Given the description of an element on the screen output the (x, y) to click on. 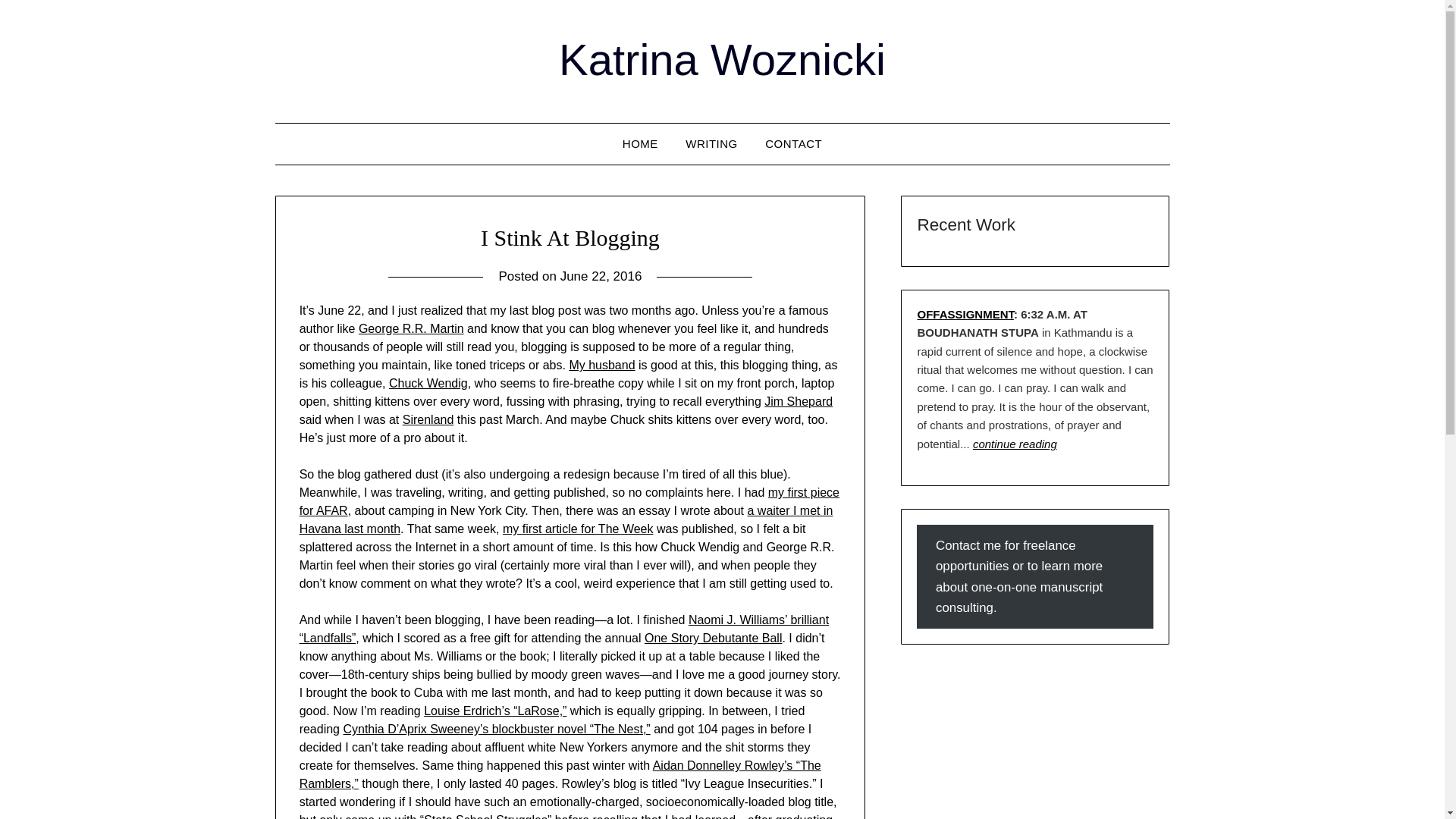
George R.R. Martin (411, 328)
My husband (601, 364)
my first article for The Week (577, 528)
Chuck Wendig (427, 382)
Sirenland (428, 419)
HOME (639, 143)
One Story Debutante Ball (713, 637)
Jim Shepard (798, 400)
WRITING (710, 143)
a waiter I met in Havana last month (565, 519)
Katrina Woznicki (722, 59)
CONTACT (793, 143)
June 22, 2016 (601, 276)
Katrina Communications (639, 143)
